Given the description of an element on the screen output the (x, y) to click on. 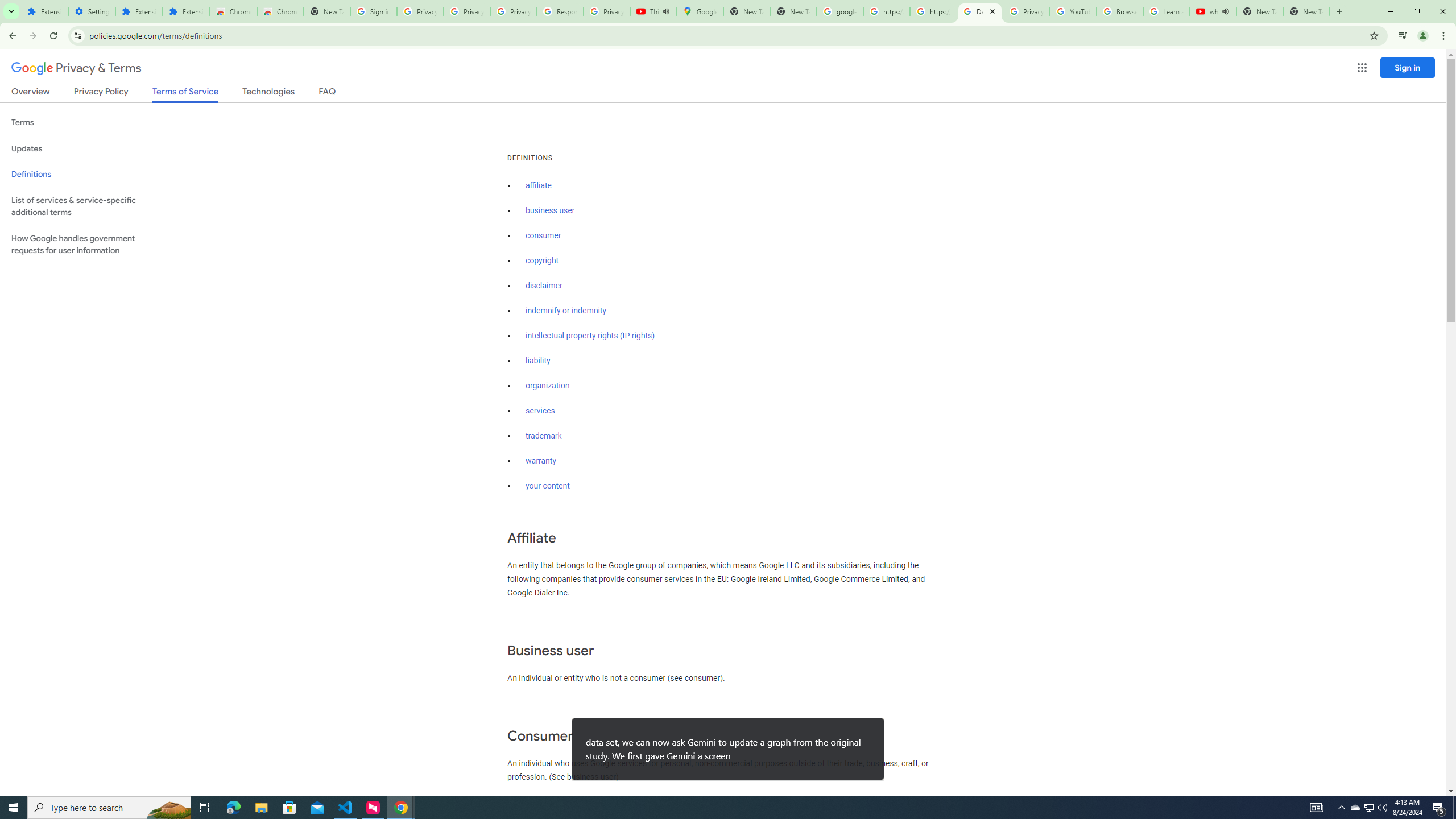
services (539, 411)
How Google handles government requests for user information (86, 244)
liability (537, 361)
business user (550, 210)
Extensions (186, 11)
Google Maps (699, 11)
